Given the description of an element on the screen output the (x, y) to click on. 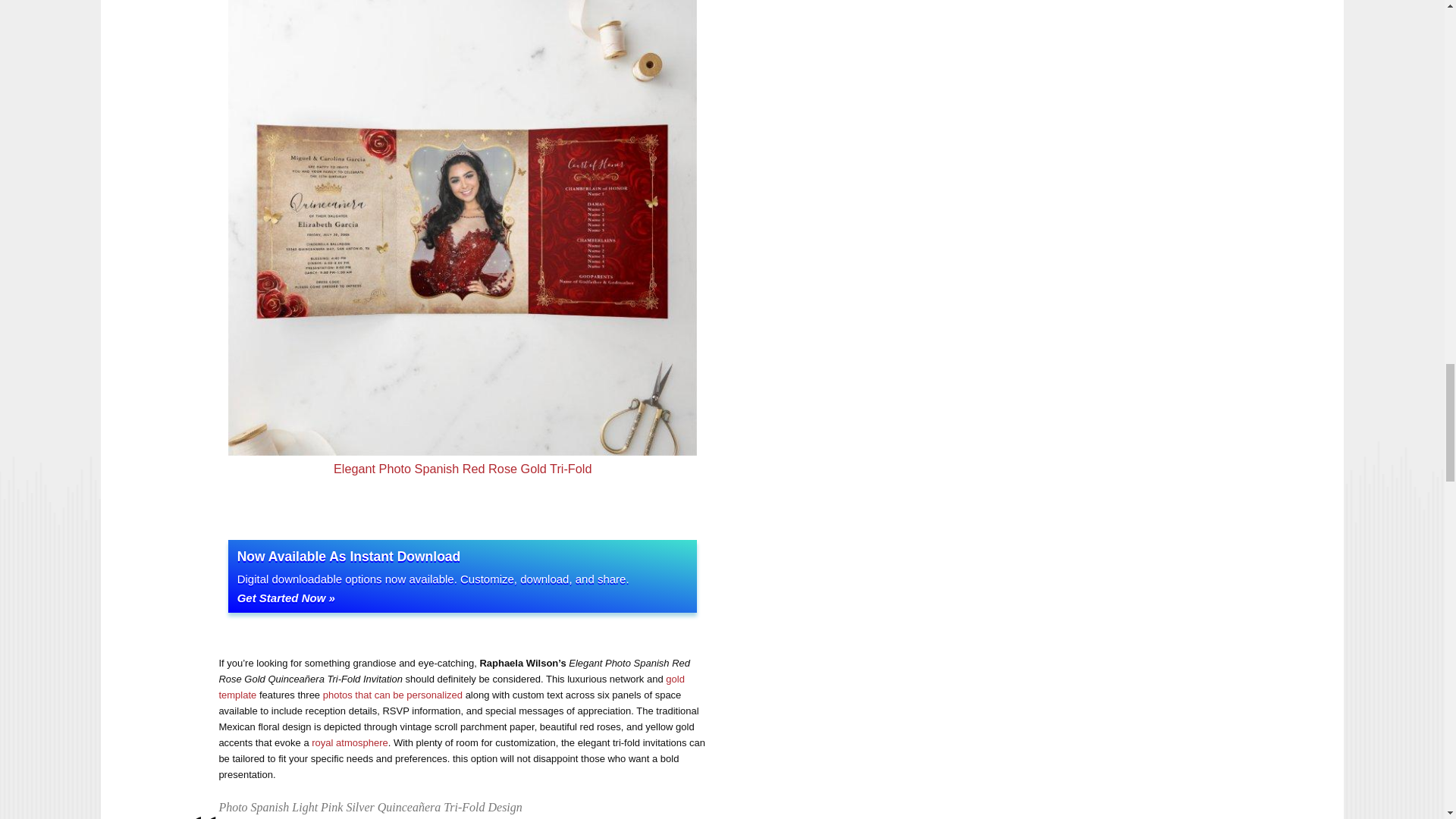
royal atmosphere (349, 742)
photos that can be personalized (393, 695)
gold template (451, 687)
